Given the description of an element on the screen output the (x, y) to click on. 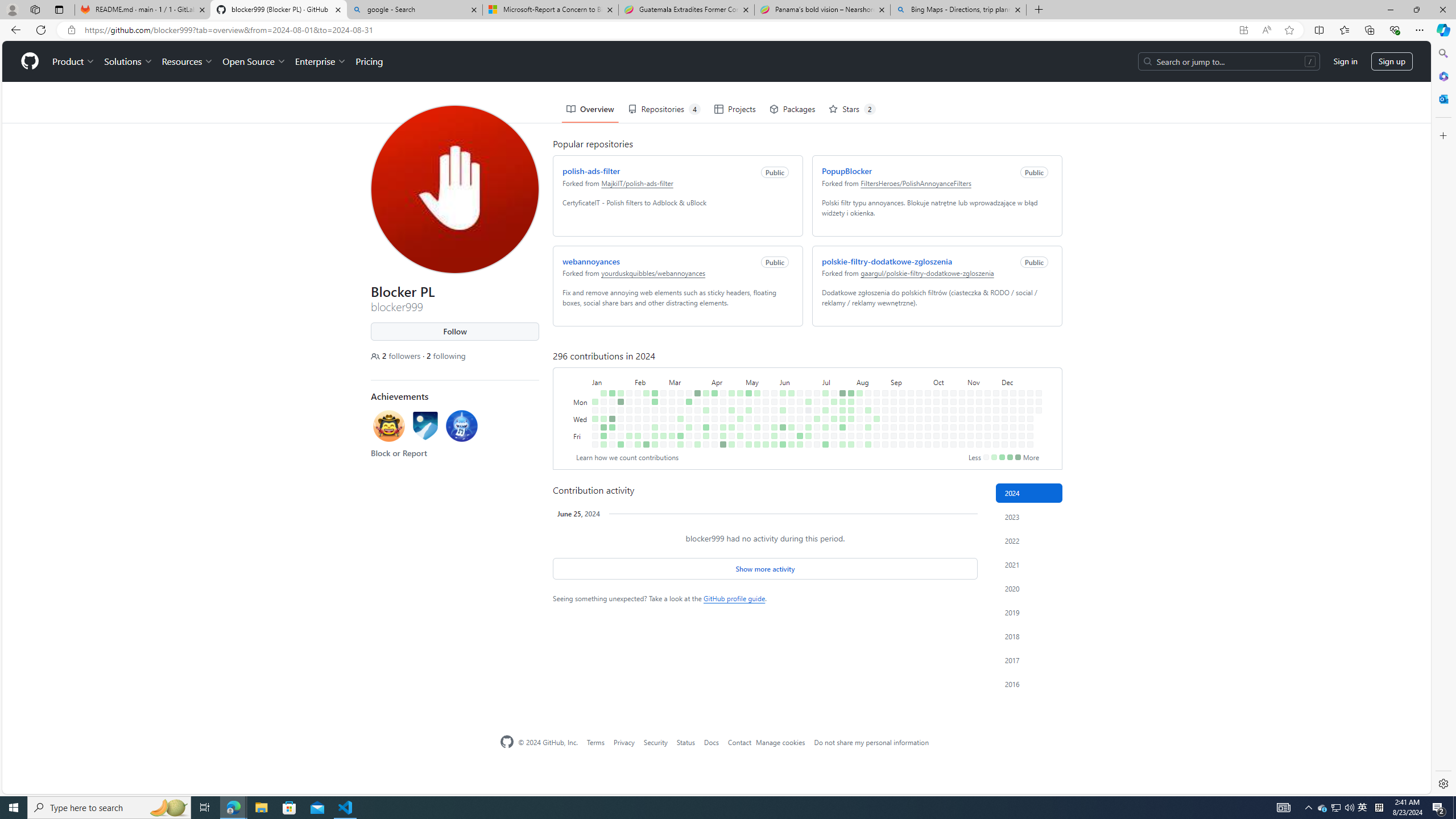
No contributions on July 10th. (823, 377)
October (946, 339)
2 contributions on June 9th. (789, 351)
Import favorites (36, 49)
No contributions on September 29th. (925, 351)
No contributions on June 5th. (780, 377)
Contribution activity in 2017 (1028, 659)
Sign up (1389, 20)
polish-ads-filter (589, 129)
No contributions on May 17th. (754, 394)
View blocker999's full-sized avatar (452, 147)
3 contributions on June 15th. (790, 444)
No contributions on October 31st. (959, 386)
